Given the description of an element on the screen output the (x, y) to click on. 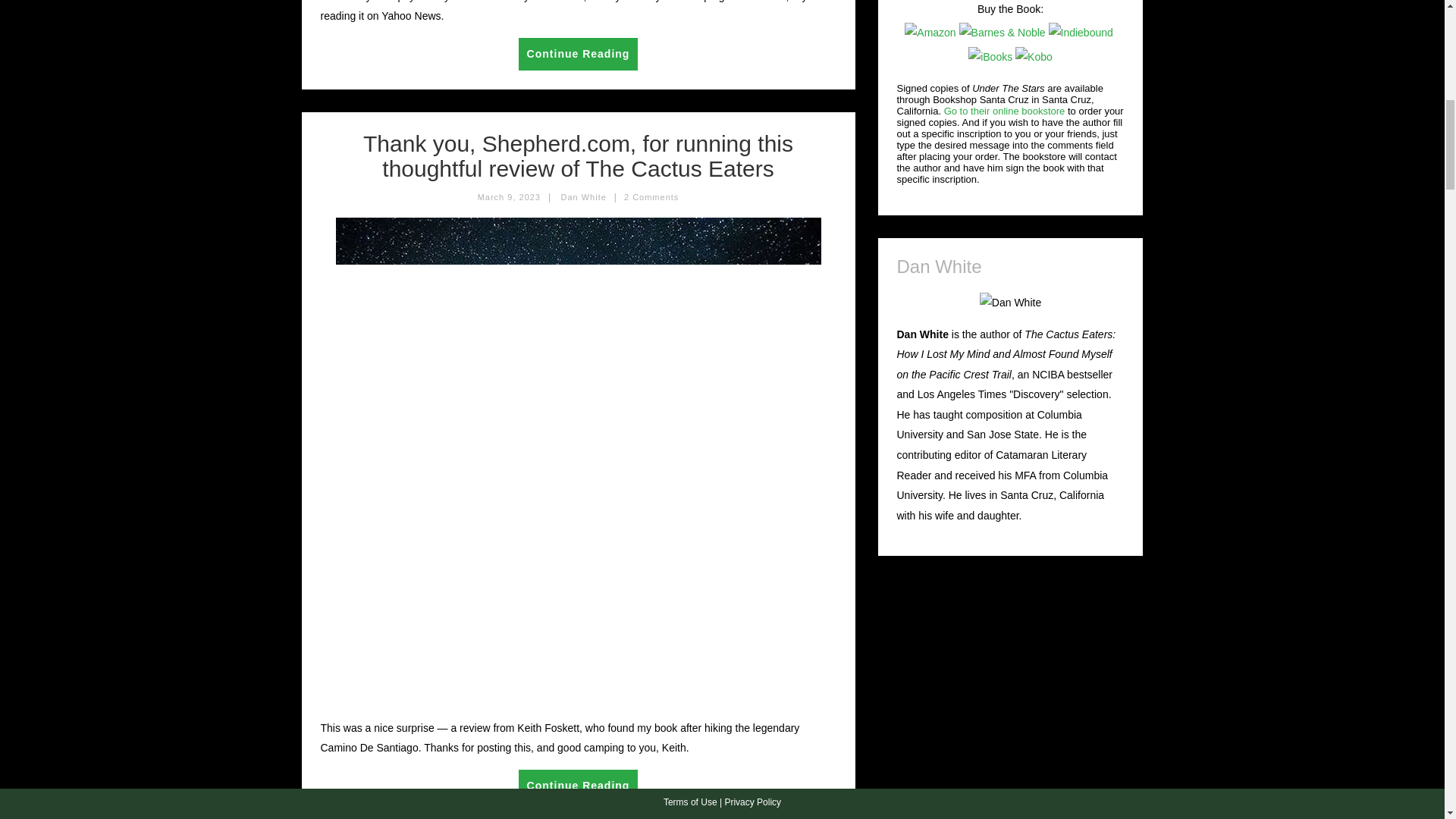
March 9, 2023 (508, 196)
Continue Reading (578, 53)
Continue Reading (578, 785)
Dan White (582, 196)
2 Comments (651, 196)
